Given the description of an element on the screen output the (x, y) to click on. 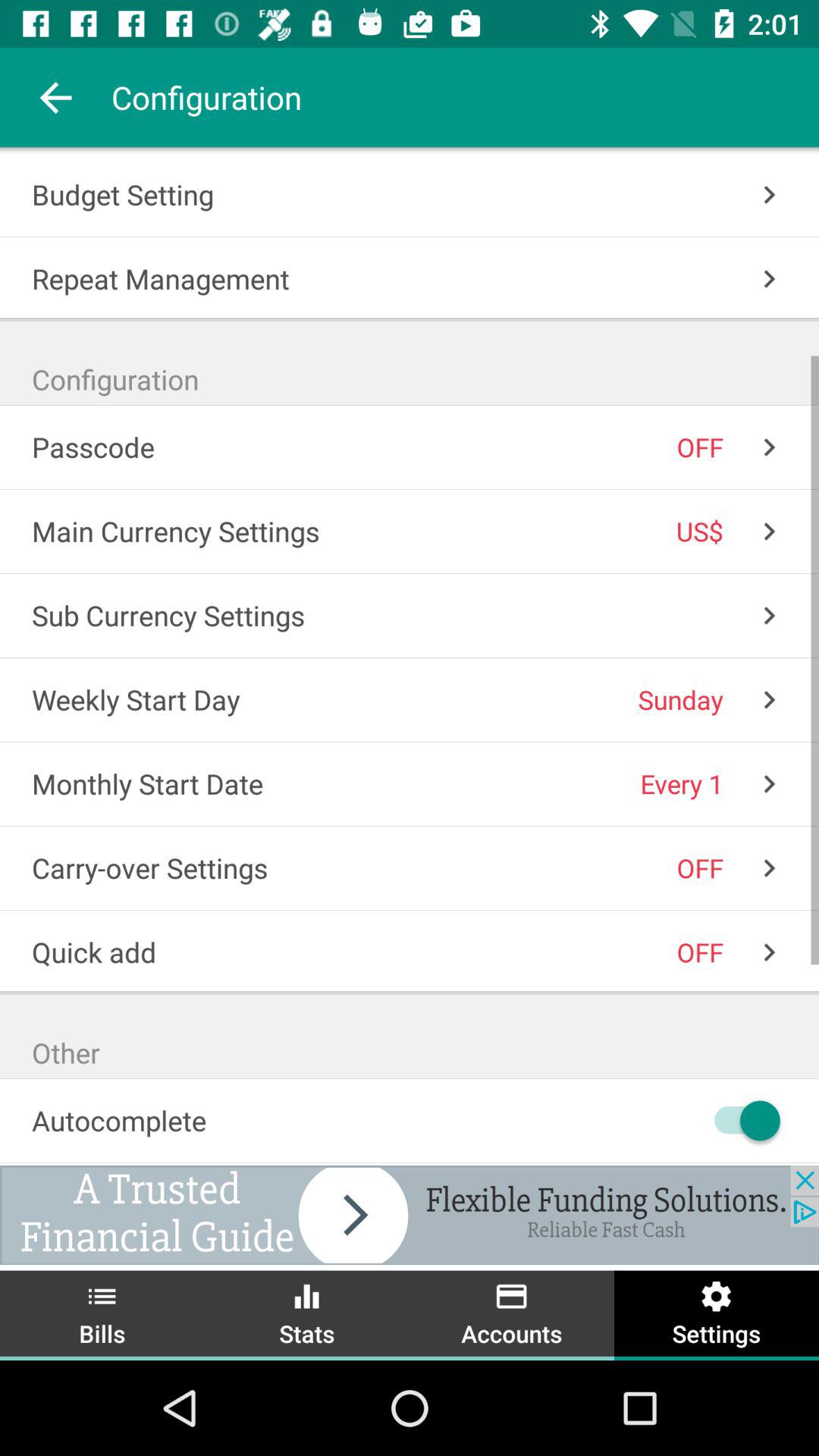
click the arrow beside main currency settings (769, 533)
